Given the description of an element on the screen output the (x, y) to click on. 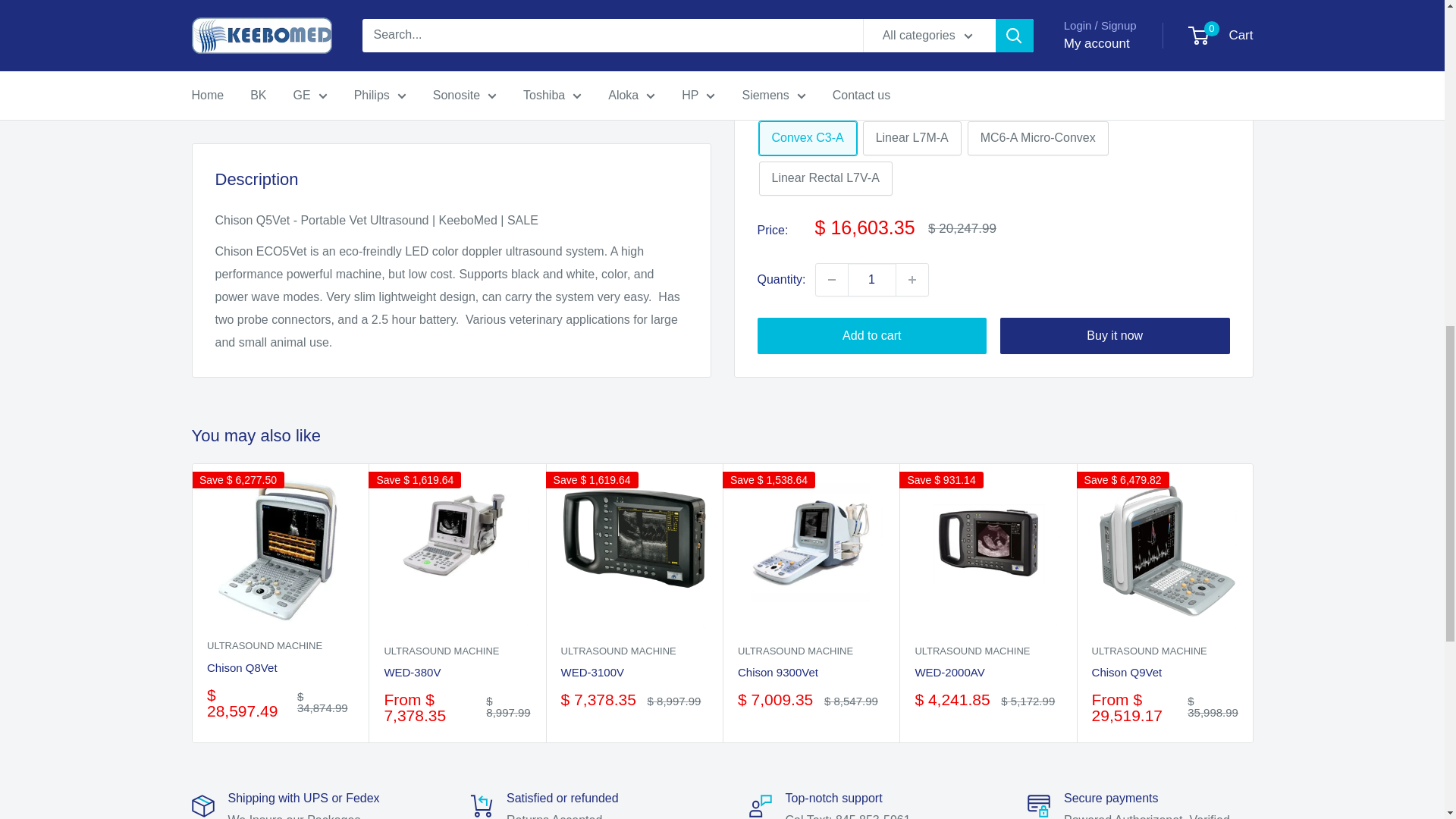
Increase quantity by 1 (912, 28)
1 (871, 28)
Decrease quantity by 1 (831, 28)
